Given the description of an element on the screen output the (x, y) to click on. 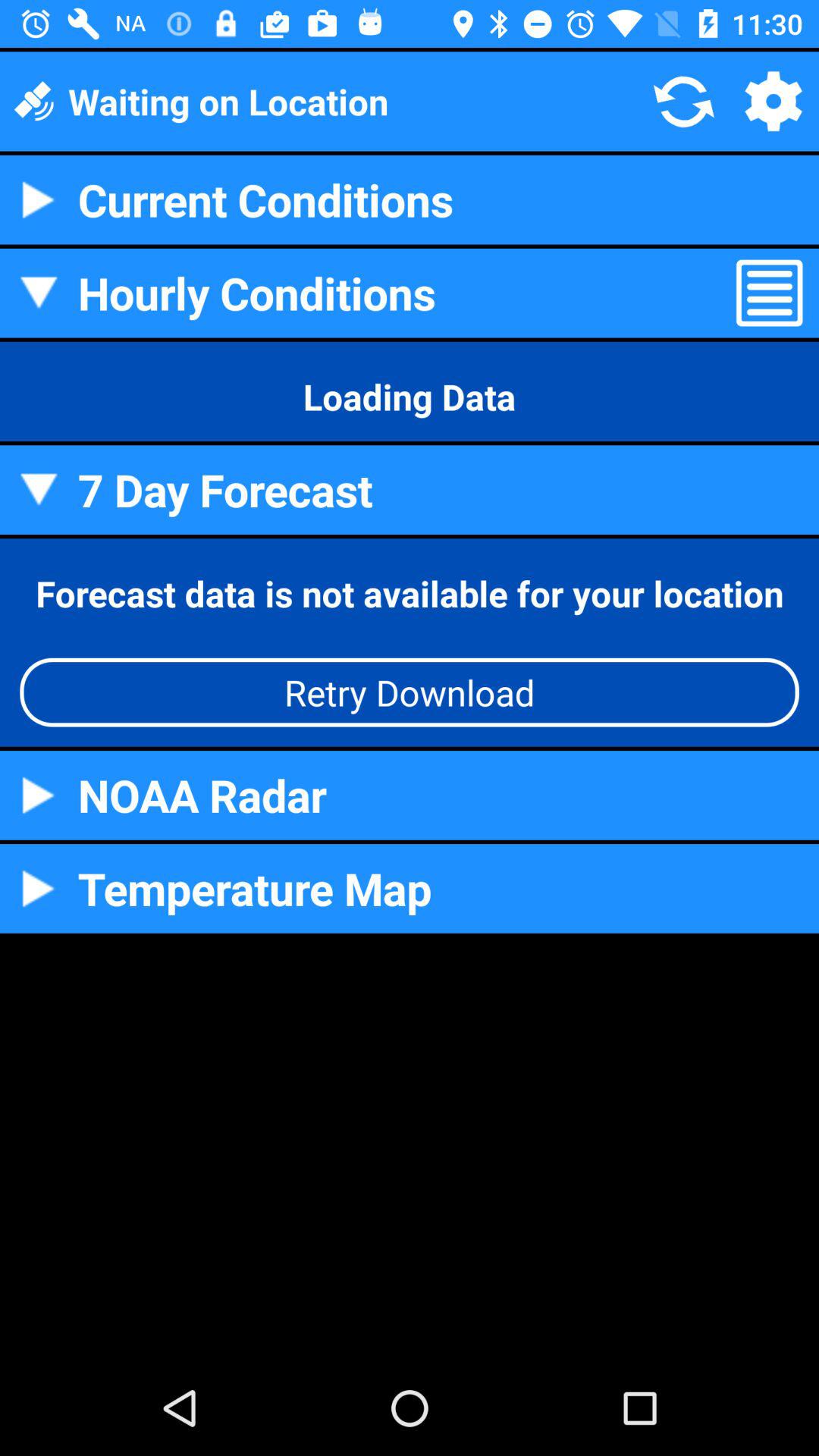
flip until the retry download item (409, 692)
